Given the description of an element on the screen output the (x, y) to click on. 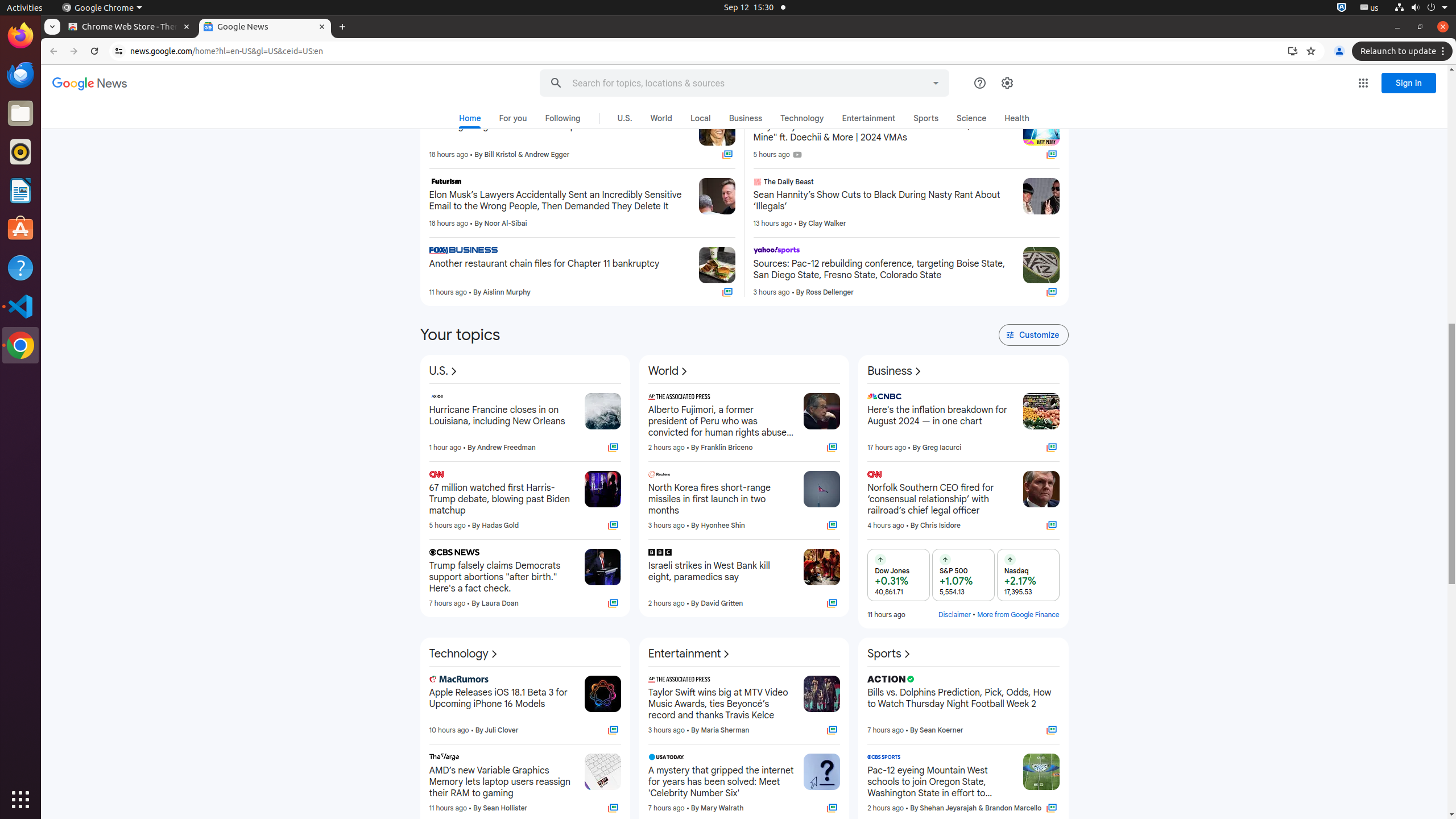
Full Coverage Element type: link (1051, 808)
More - AMD’s new Variable Graphics Memory lets laptop users reassign their RAM to gaming Element type: push-button (571, 758)
More - Pac-12 eyeing Mountain West schools to join Oregon State, Washington State in effort to preserve league Element type: push-button (1010, 758)
More - Trump falsely claims Democrats support abortions "after birth." Here's a fact check. Element type: push-button (571, 553)
Install Google News Element type: push-button (1292, 51)
